Given the description of an element on the screen output the (x, y) to click on. 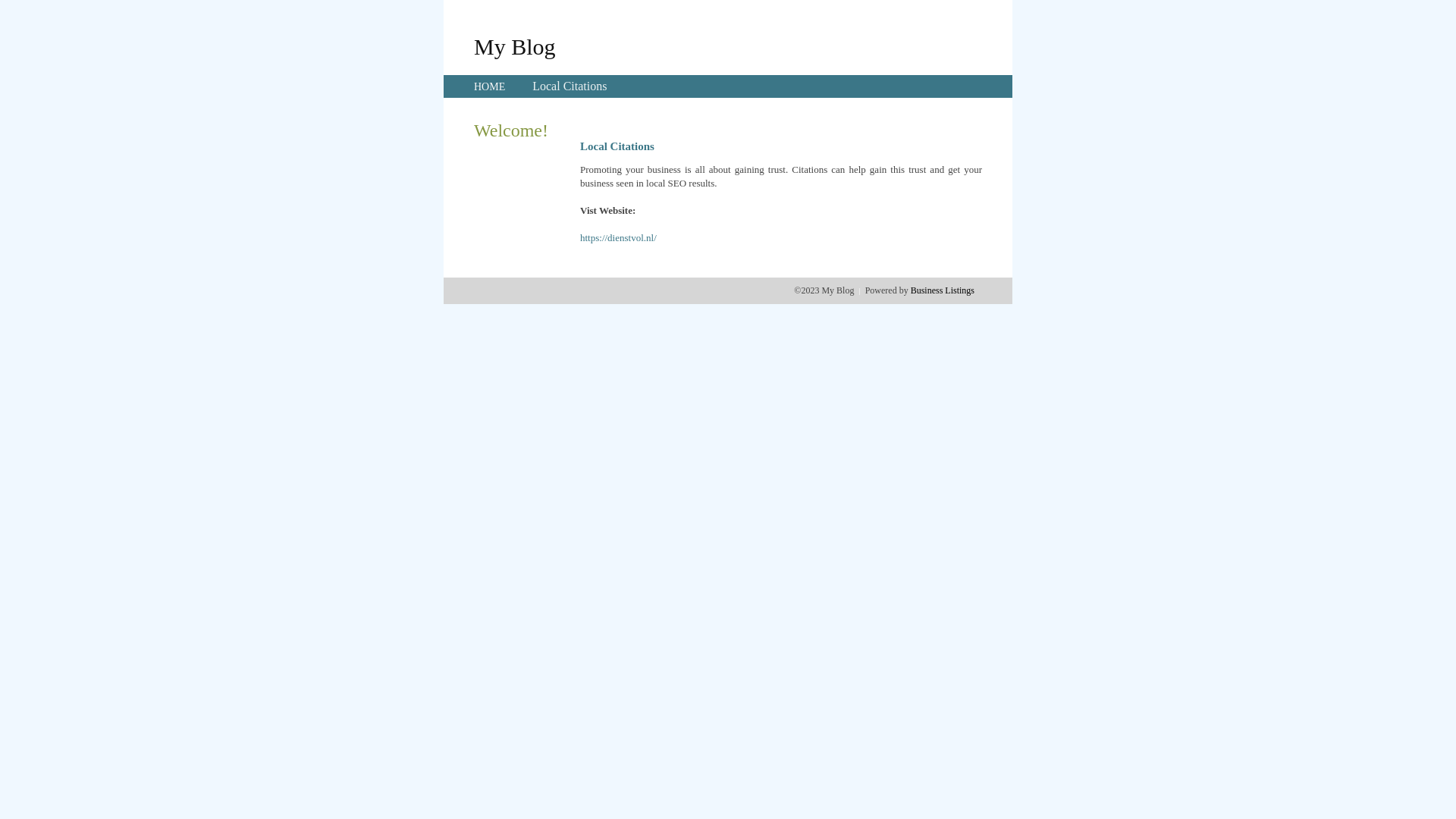
Local Citations Element type: text (569, 85)
Business Listings Element type: text (942, 290)
My Blog Element type: text (514, 46)
https://dienstvol.nl/ Element type: text (618, 237)
HOME Element type: text (489, 86)
